Given the description of an element on the screen output the (x, y) to click on. 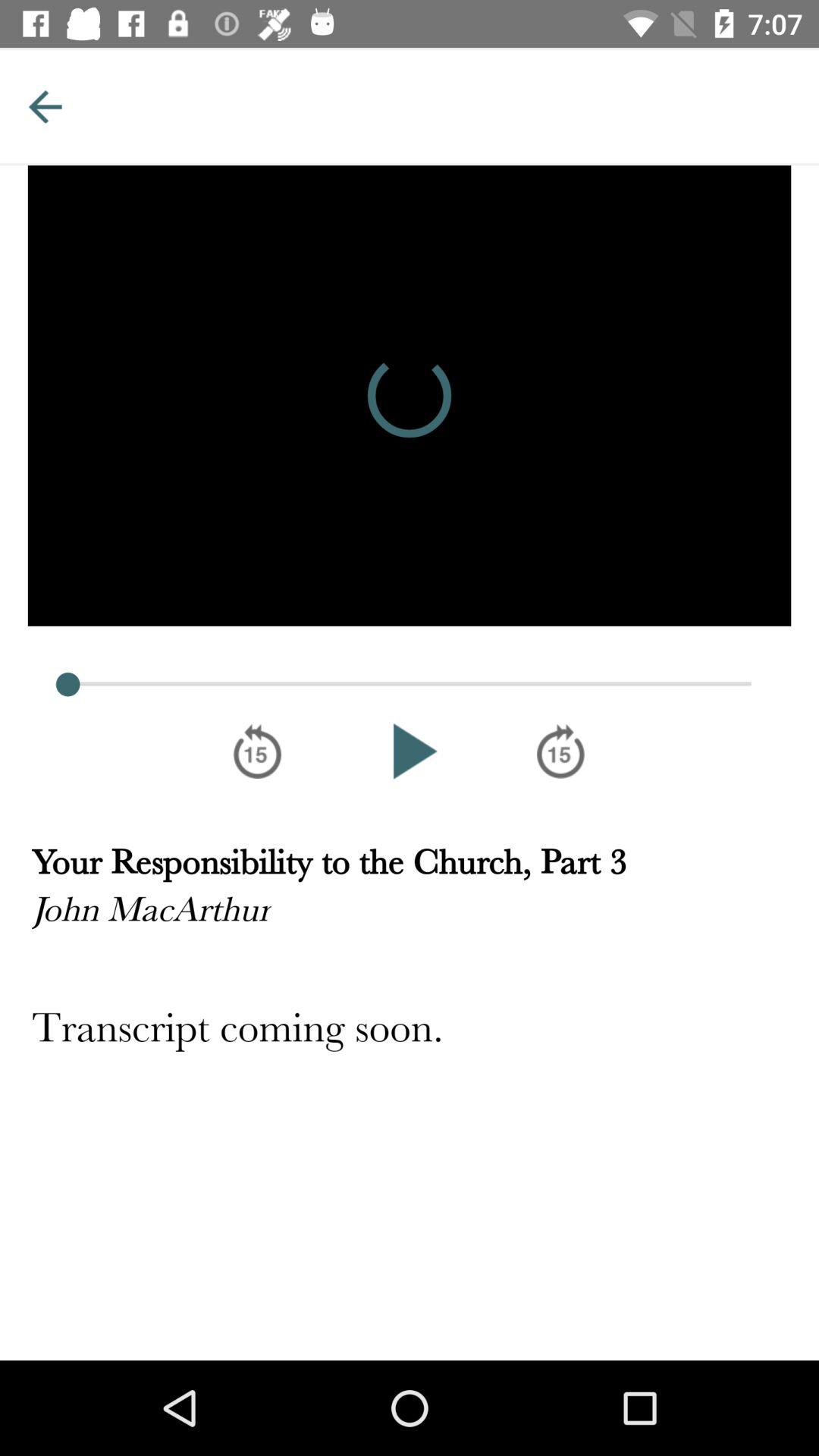
press item below the john macarthur icon (409, 1029)
